Given the description of an element on the screen output the (x, y) to click on. 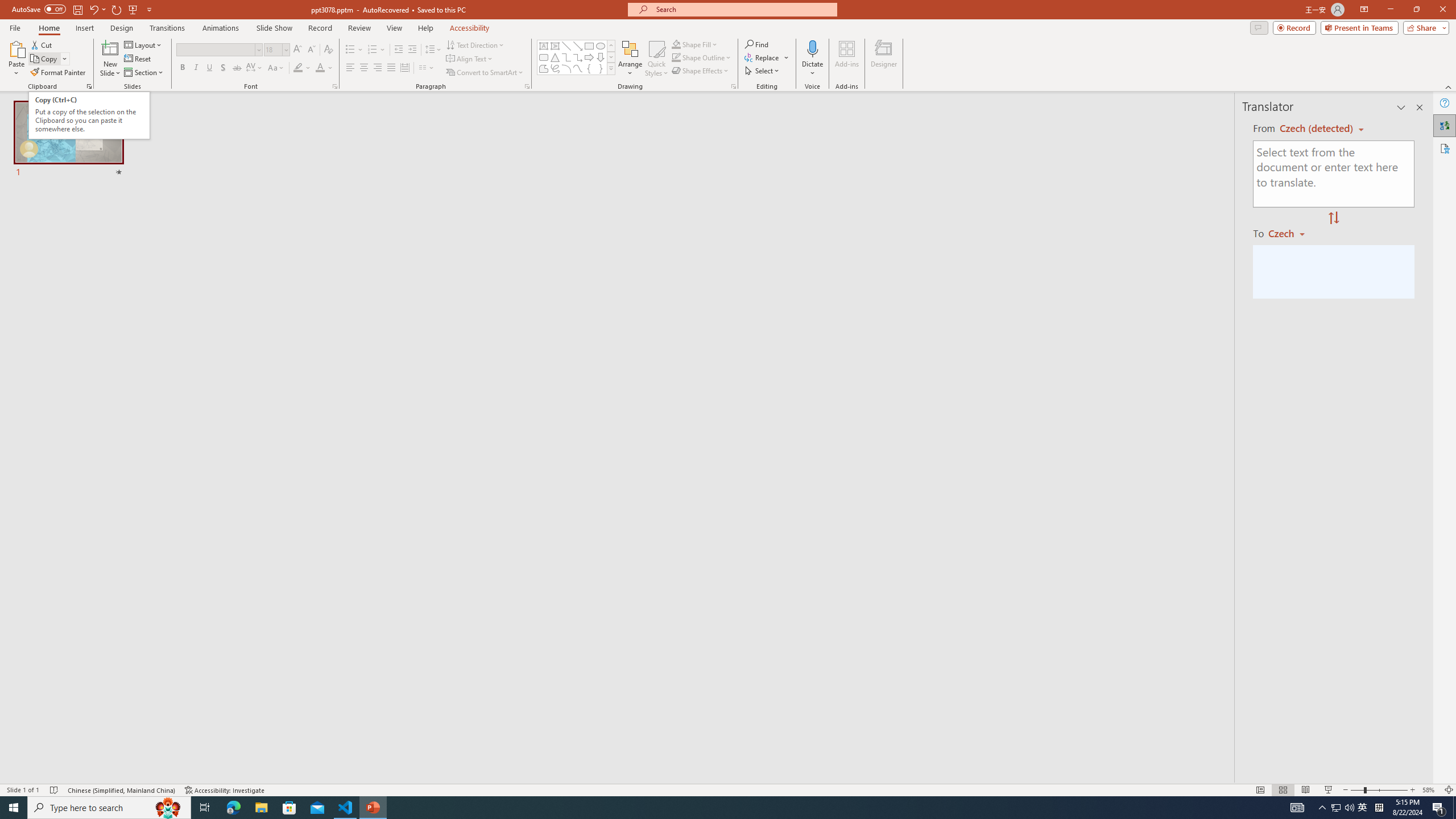
Decrease Indent (398, 49)
Bullets (354, 49)
Copy (49, 58)
AutomationID: ShapesInsertGallery (576, 57)
Paragraph... (526, 85)
More Options (812, 68)
Minimize (1390, 9)
Oval (600, 45)
Connector: Elbow (566, 57)
Shape Effects (700, 69)
Decrease Font Size (310, 49)
Collapse the Ribbon (1448, 86)
Convert to SmartArt (485, 72)
